Given the description of an element on the screen output the (x, y) to click on. 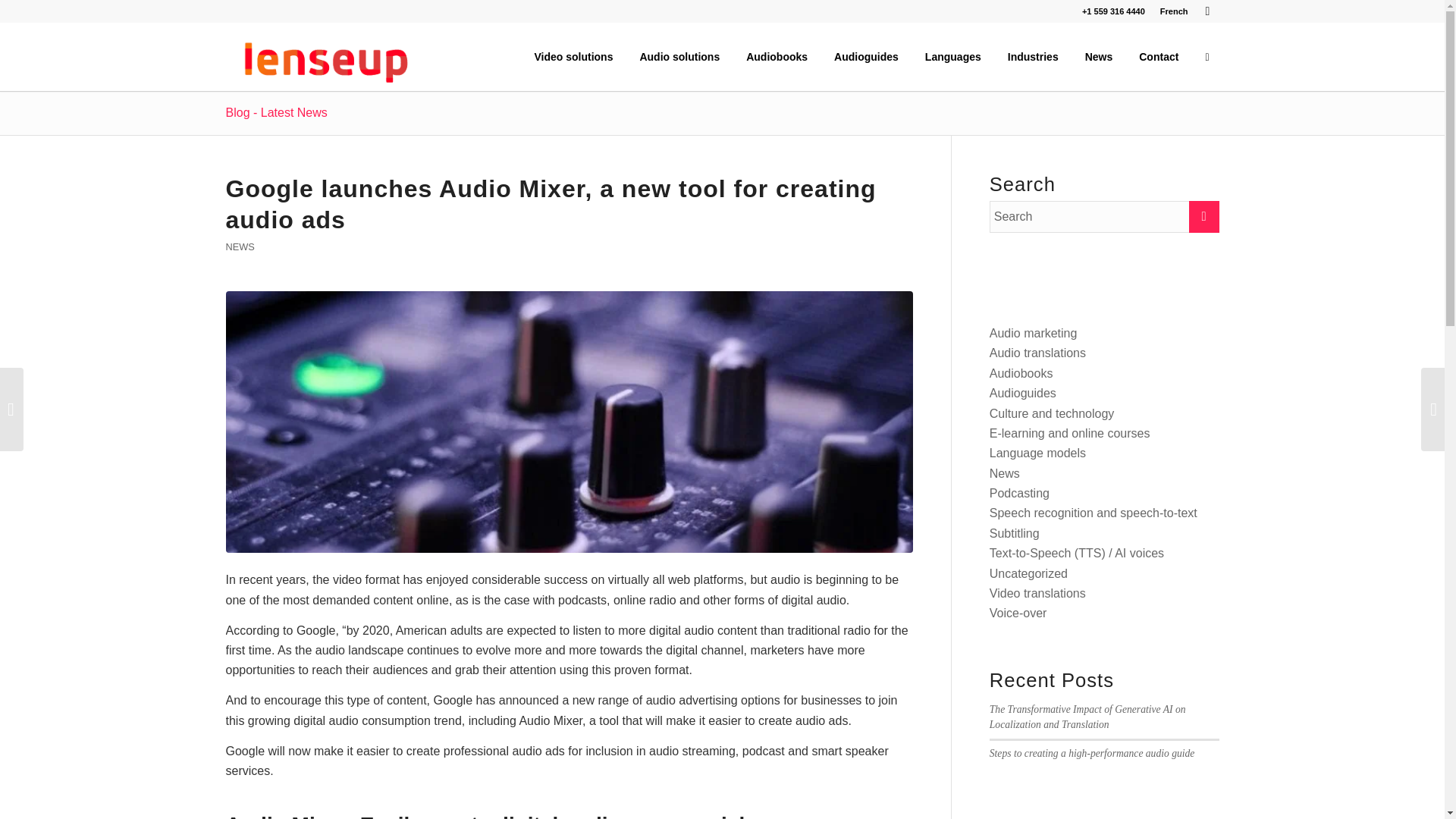
French (1174, 10)
Permanent Link: Blog - Latest News (276, 112)
Audio solutions (678, 56)
Twitter (1208, 11)
French (1174, 10)
Video solutions (573, 56)
